Given the description of an element on the screen output the (x, y) to click on. 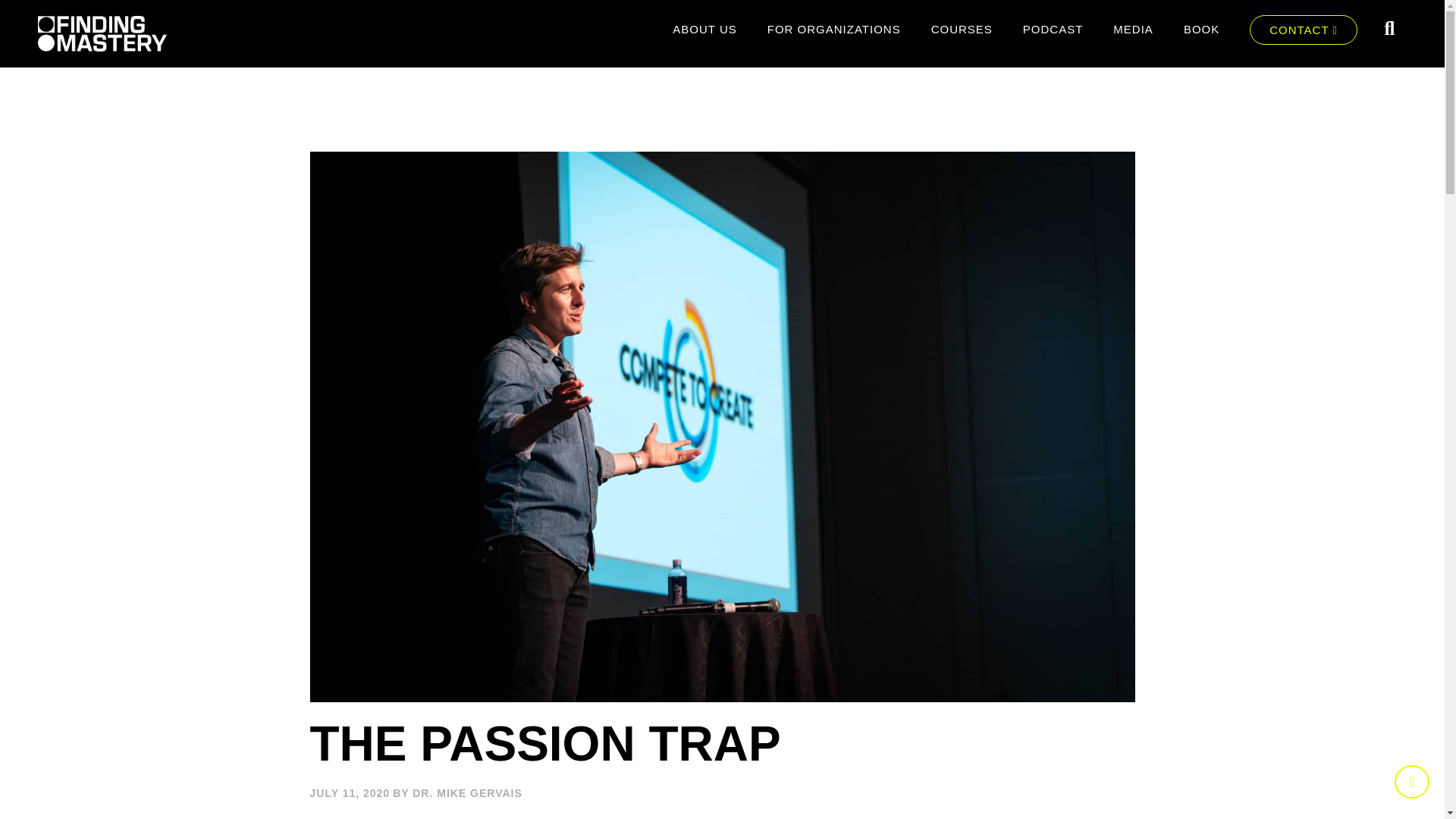
MEDIA (1133, 29)
FOR ORGANIZATIONS (834, 29)
COURSES (961, 29)
CONTACT (1302, 30)
ABOUT US (704, 29)
BOOK (1201, 29)
PODCAST (1053, 29)
